Given the description of an element on the screen output the (x, y) to click on. 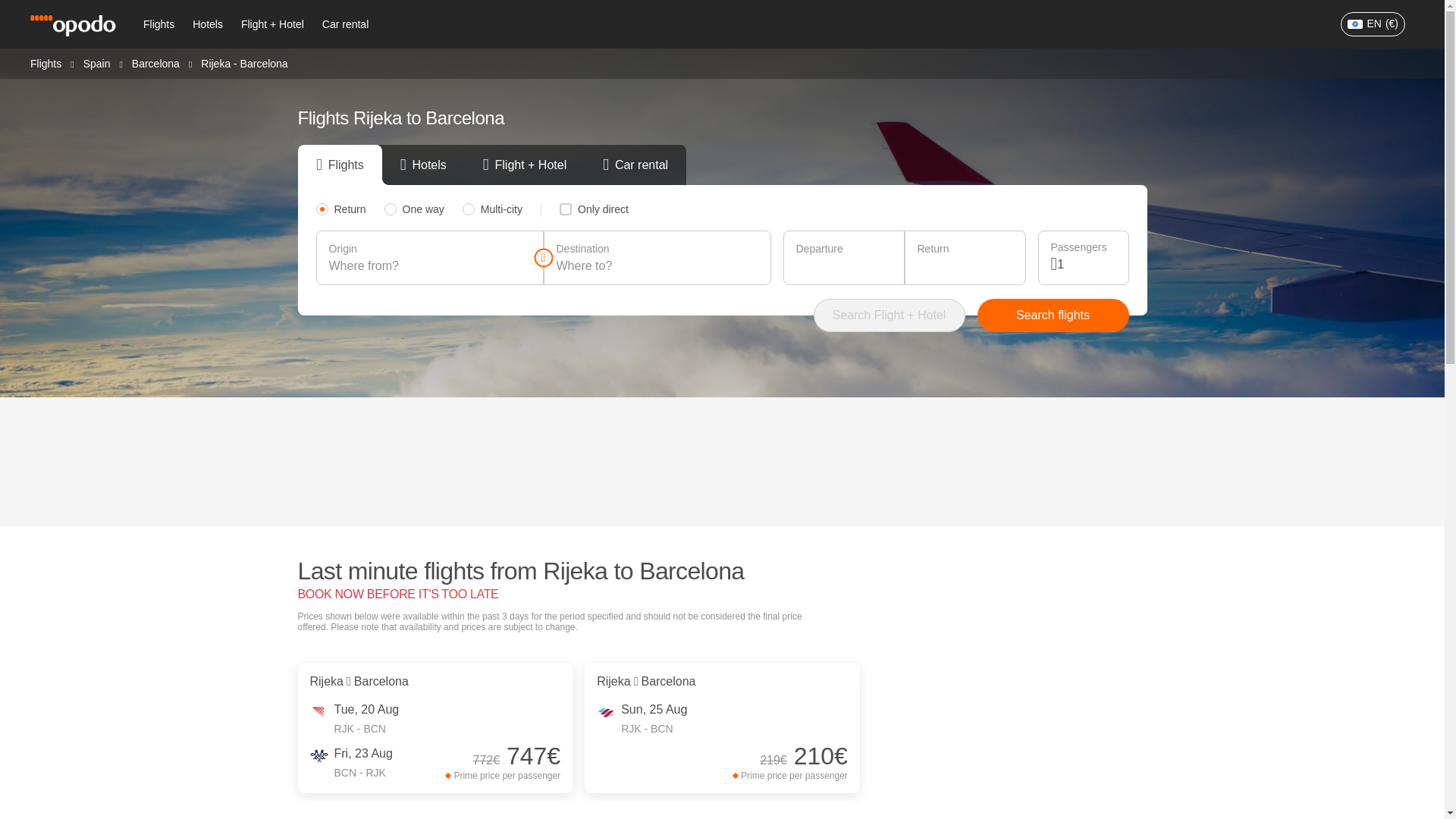
Barcelona (155, 62)
Flights (158, 24)
3rd party ad content (722, 461)
Spain (96, 62)
Car rental (345, 24)
Hotels (207, 24)
Search flights (1052, 315)
Rijeka - Barcelona (243, 63)
1 (1086, 263)
Flights (45, 62)
